Given the description of an element on the screen output the (x, y) to click on. 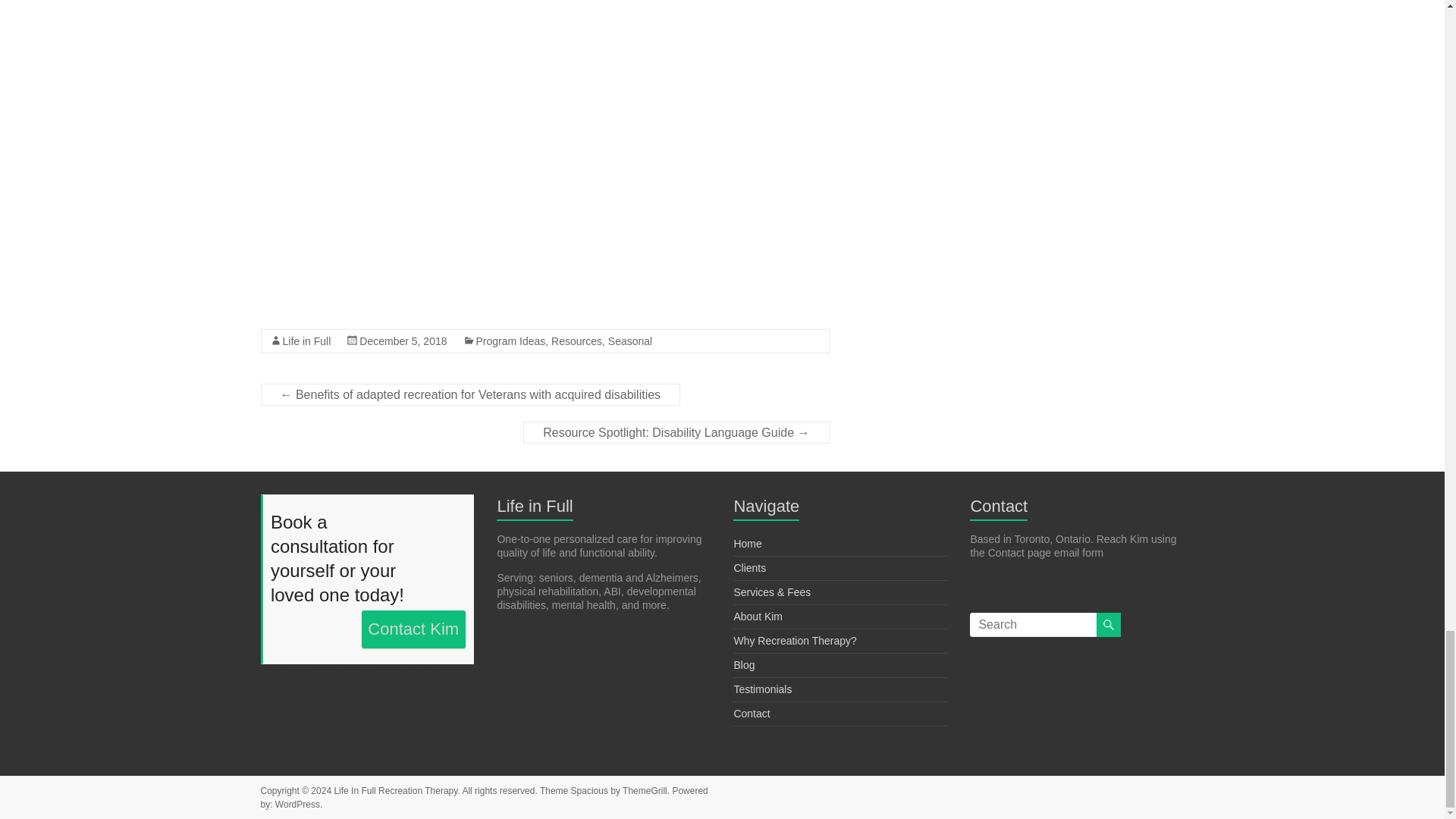
Contact Kim (413, 629)
December 5, 2018 (402, 340)
Contact (751, 713)
Life In Full Recreation Therapy (395, 790)
1:11 am (402, 340)
Resources (576, 340)
Blog (743, 664)
Clients (749, 567)
Seasonal (630, 340)
Spacious (589, 790)
Life in Full (306, 340)
Spacious (589, 790)
Contact Kim (413, 629)
Testimonials (762, 689)
WordPress (297, 804)
